Given the description of an element on the screen output the (x, y) to click on. 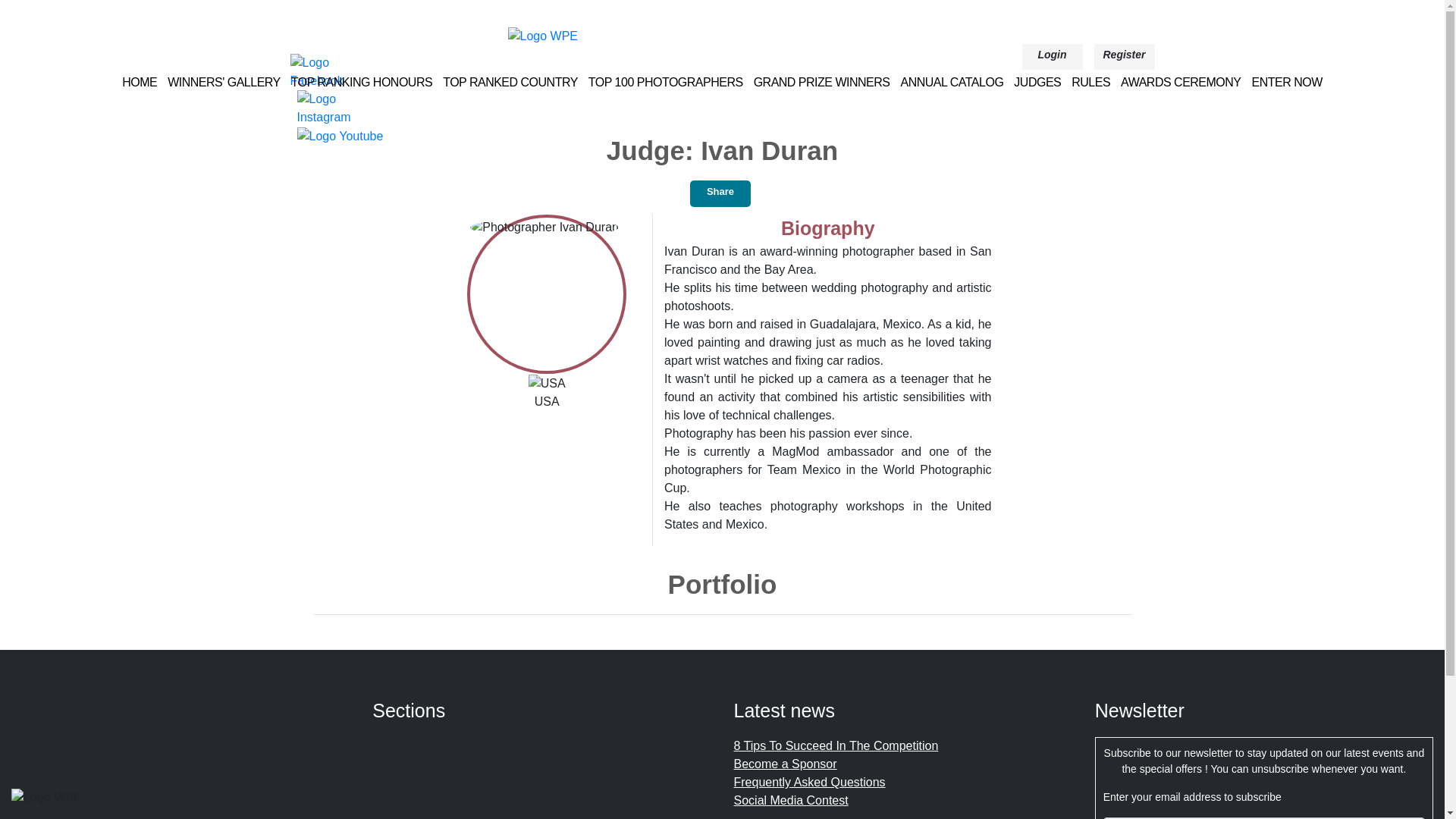
RULES (1090, 82)
ENTER NOW (1287, 82)
AWARDS CEREMONY (1180, 82)
TOP RANKING HONOURS (361, 82)
Follow WPE Awards on Instagram (345, 106)
TOP RANKED COUNTRY (510, 82)
ANNUAL CATALOG (951, 82)
WINNERS' GALLERY (224, 82)
Follow WPE Awards on Facebook (337, 70)
Frequently Asked Questions (809, 781)
